Given the description of an element on the screen output the (x, y) to click on. 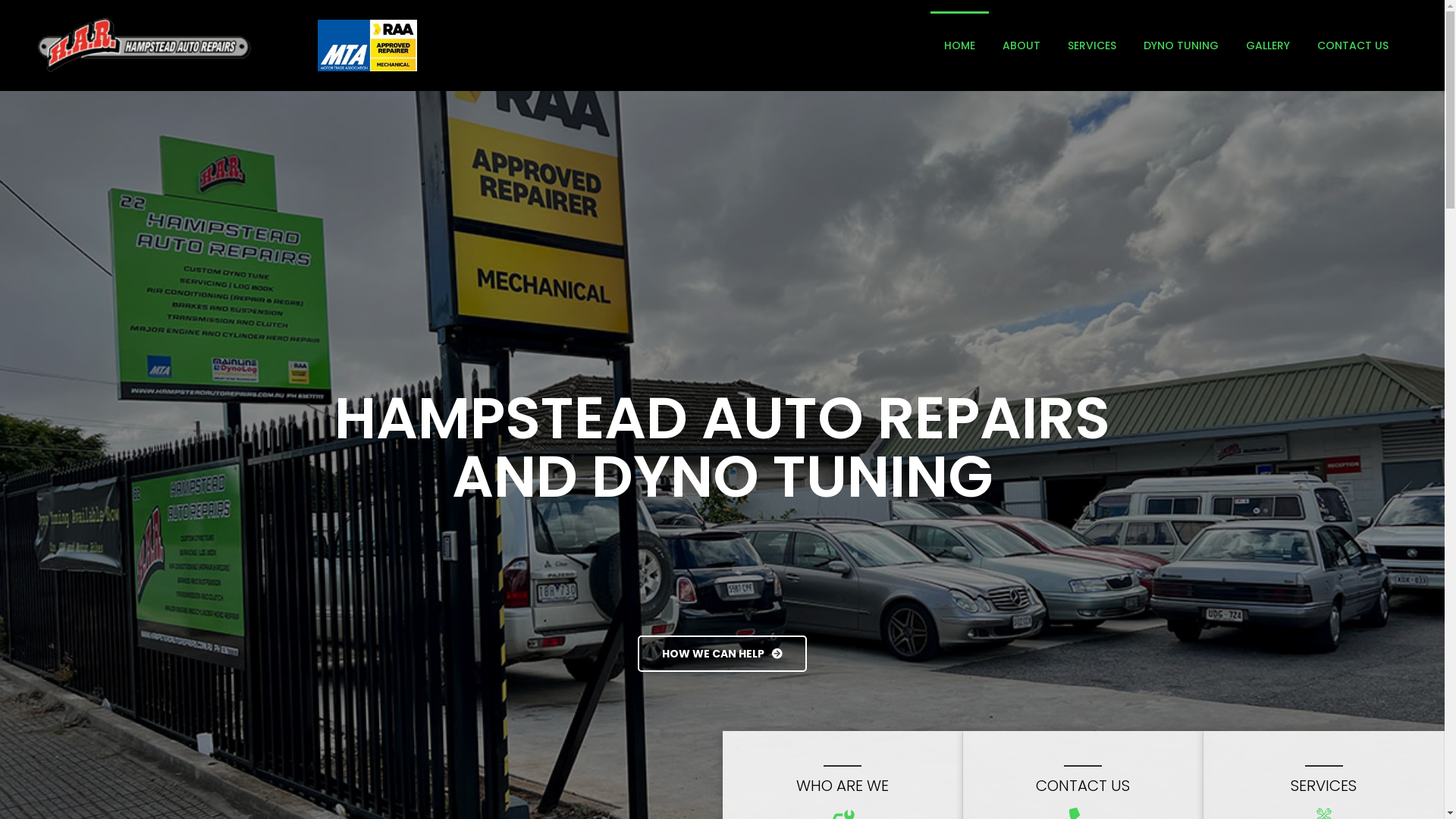
ABOUT Element type: text (1021, 45)
CONTACT US Element type: text (1352, 45)
SERVICES Element type: text (1323, 785)
SERVICES Element type: text (1091, 45)
HOME Element type: text (959, 45)
GALLERY Element type: text (1267, 45)
HOW WE CAN HELP Element type: text (721, 653)
DYNO TUNING Element type: text (1180, 45)
CONTACT US Element type: text (1082, 785)
WHO ARE WE Element type: text (842, 785)
